Given the description of an element on the screen output the (x, y) to click on. 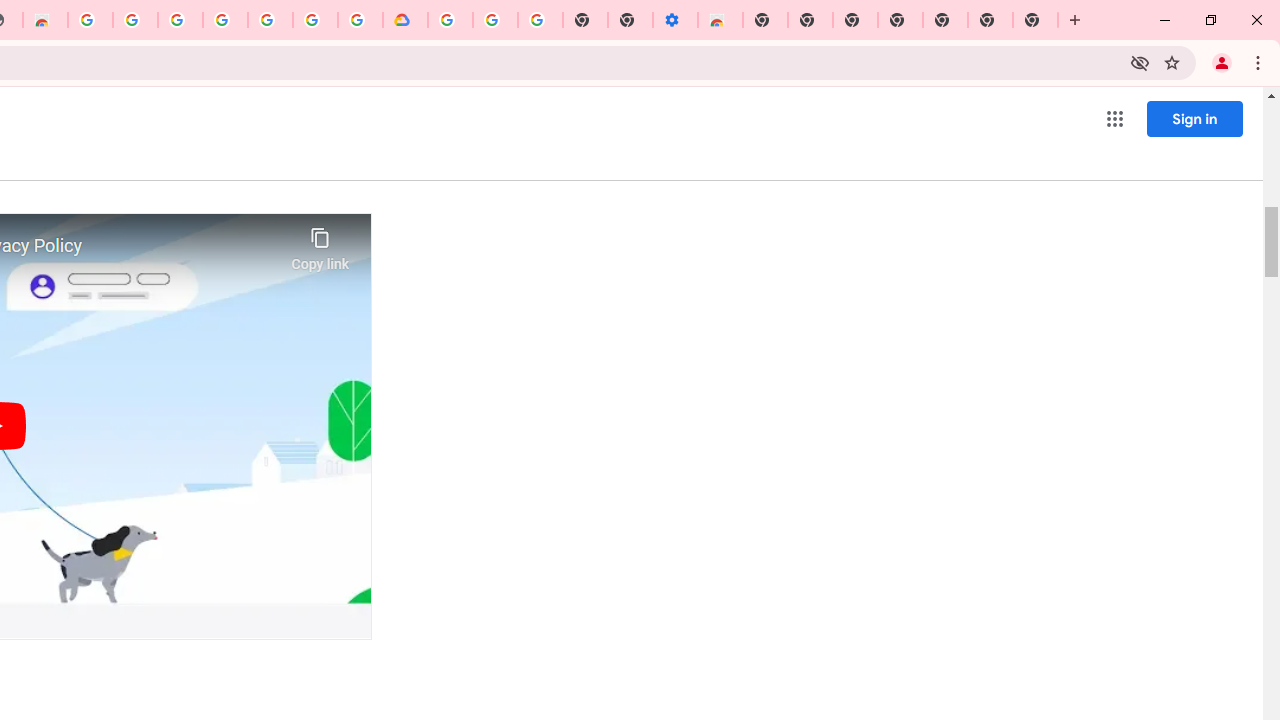
Google Account Help (495, 20)
Sign in - Google Accounts (315, 20)
New Tab (765, 20)
Settings - Accessibility (674, 20)
Ad Settings (134, 20)
Sign in - Google Accounts (450, 20)
